Given the description of an element on the screen output the (x, y) to click on. 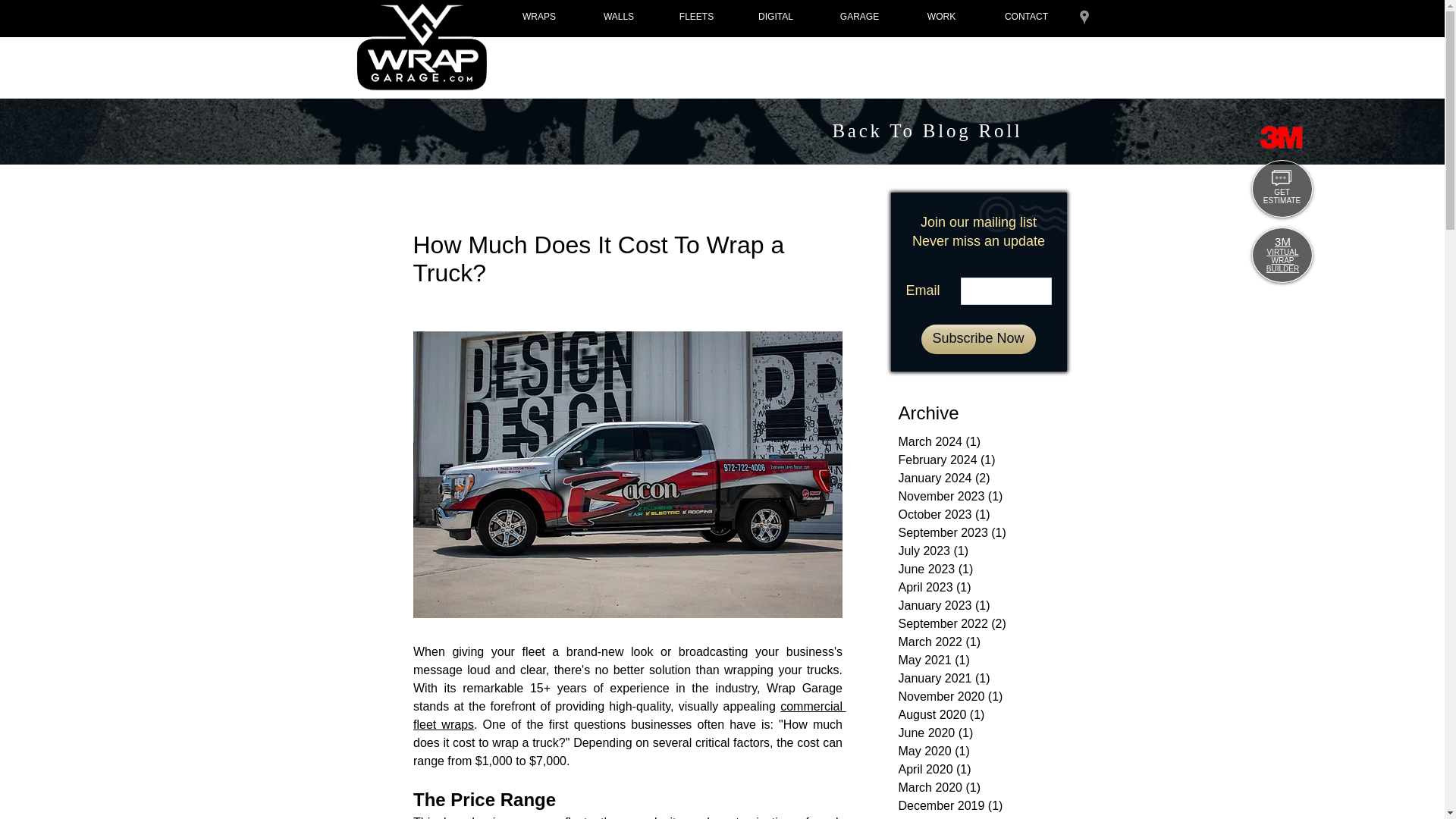
DIGITAL (775, 15)
CONTACT (1025, 15)
GET ESTIMATE (1281, 196)
commercial fleet wraps (628, 716)
VIRTUAL WRAP BUILDER (1282, 260)
WALLS (618, 15)
Back To Blog Roll (926, 130)
price range (513, 817)
3M (1282, 241)
WRAPS (539, 15)
